Given the description of an element on the screen output the (x, y) to click on. 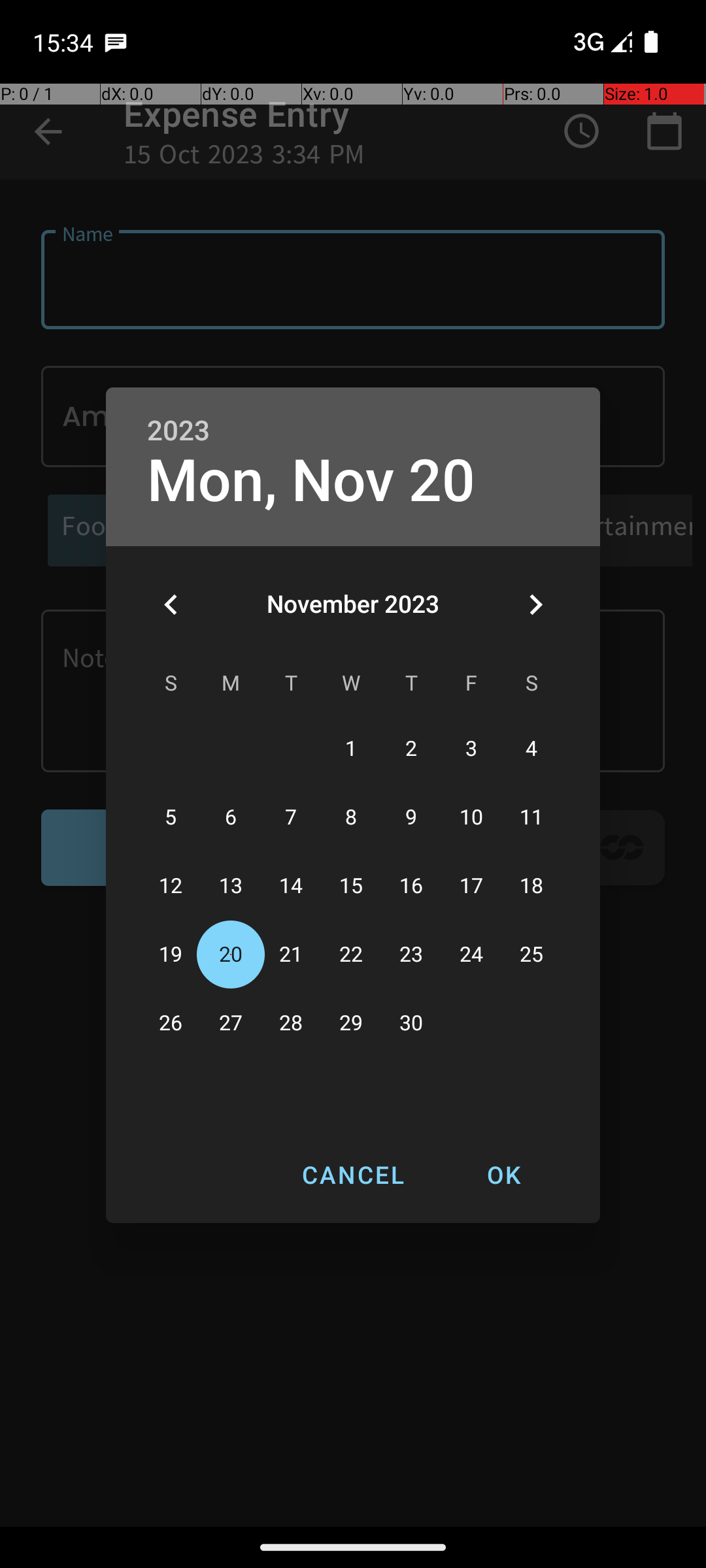
Mon, Nov 20 Element type: android.widget.TextView (311, 480)
